Given the description of an element on the screen output the (x, y) to click on. 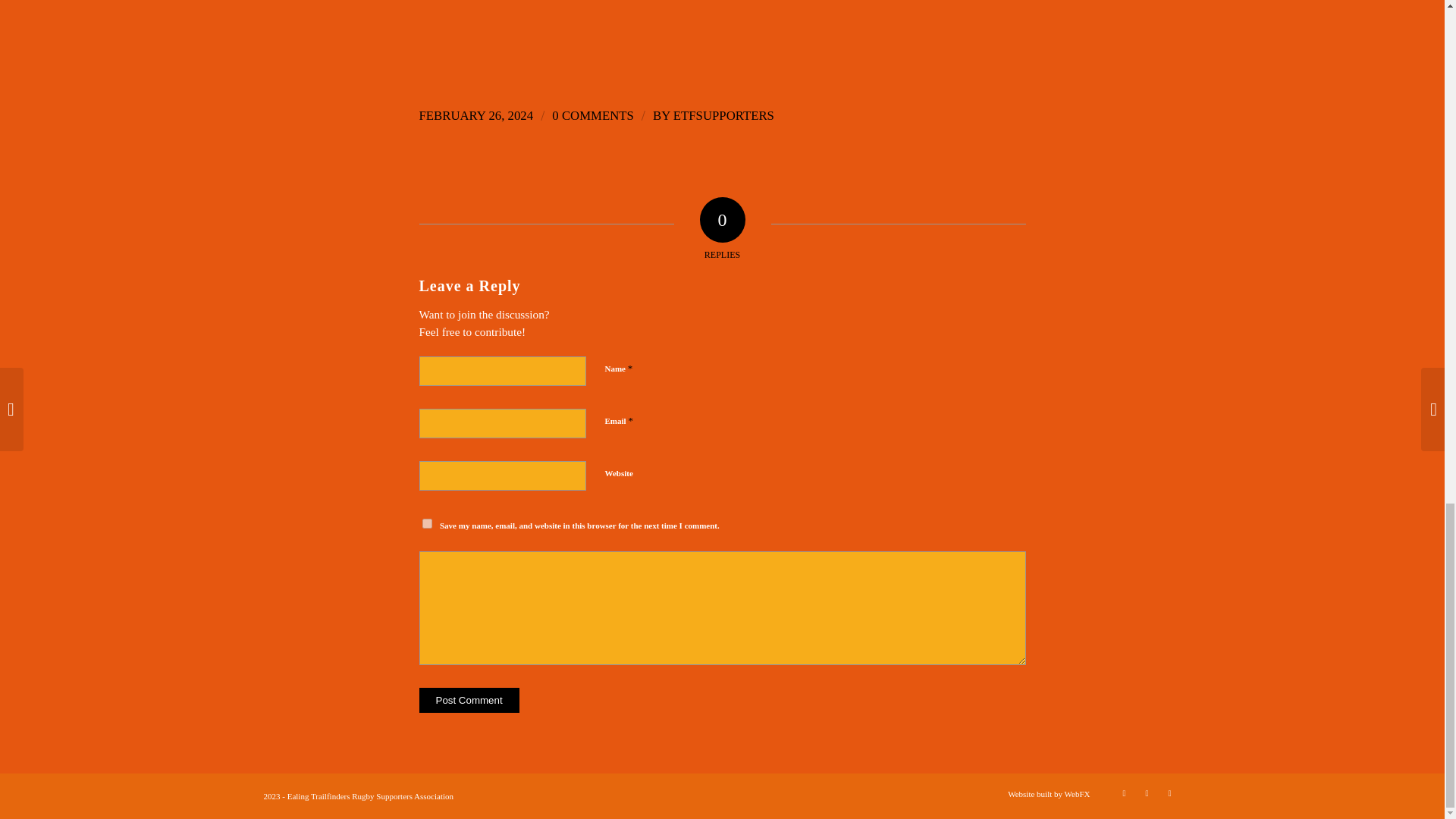
ETFSUPPORTERS (723, 115)
Post Comment (468, 699)
Posts by etfsupporters (723, 115)
0 COMMENTS (592, 115)
Post Comment (468, 699)
Website built by WebFX (1048, 793)
Facebook (1146, 793)
Instagram (1169, 793)
Twitter (1124, 793)
1 (612, 556)
yes (426, 523)
